Given the description of an element on the screen output the (x, y) to click on. 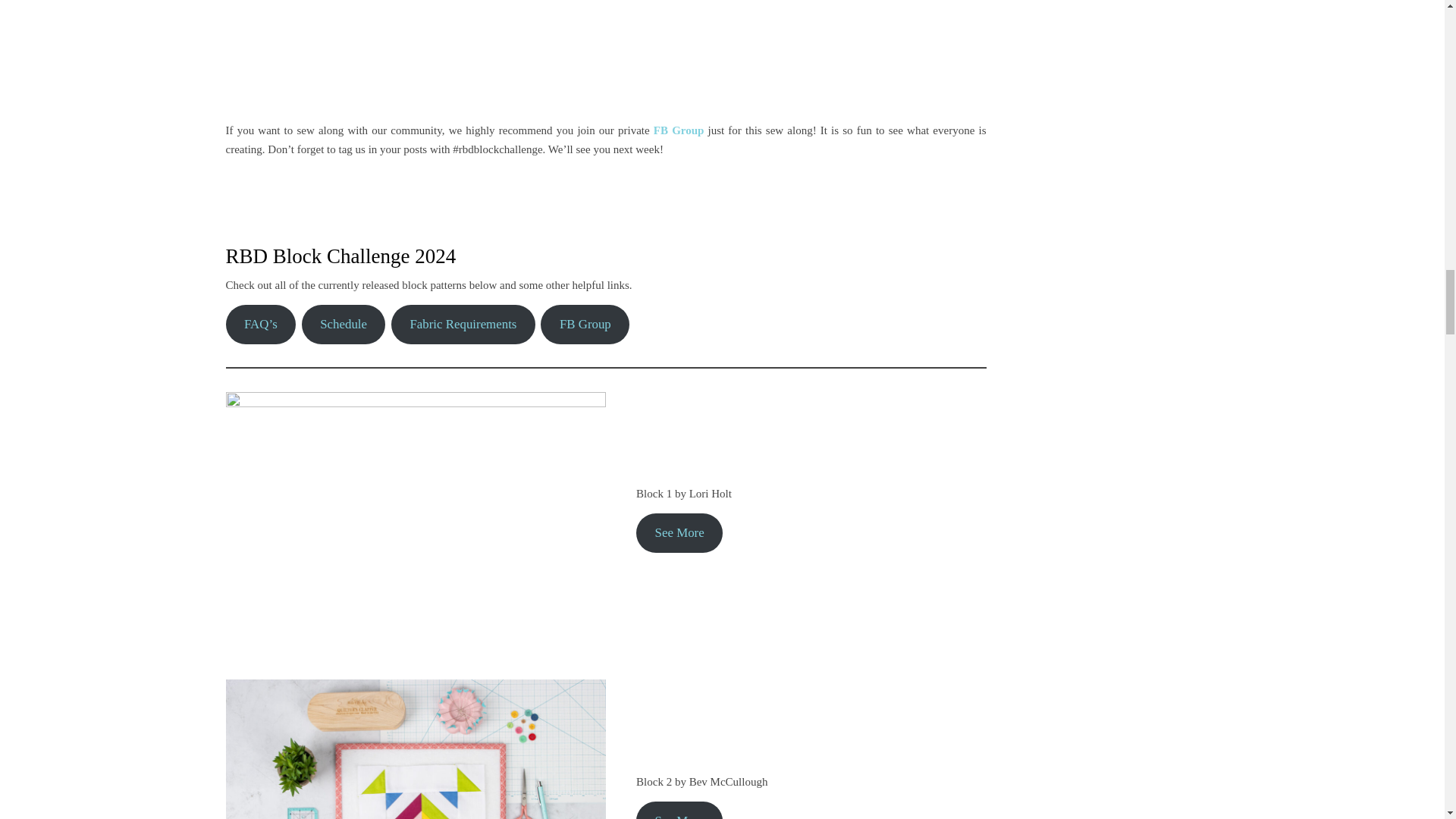
2024 RBD Block Challenge: Block 2 (606, 56)
